Given the description of an element on the screen output the (x, y) to click on. 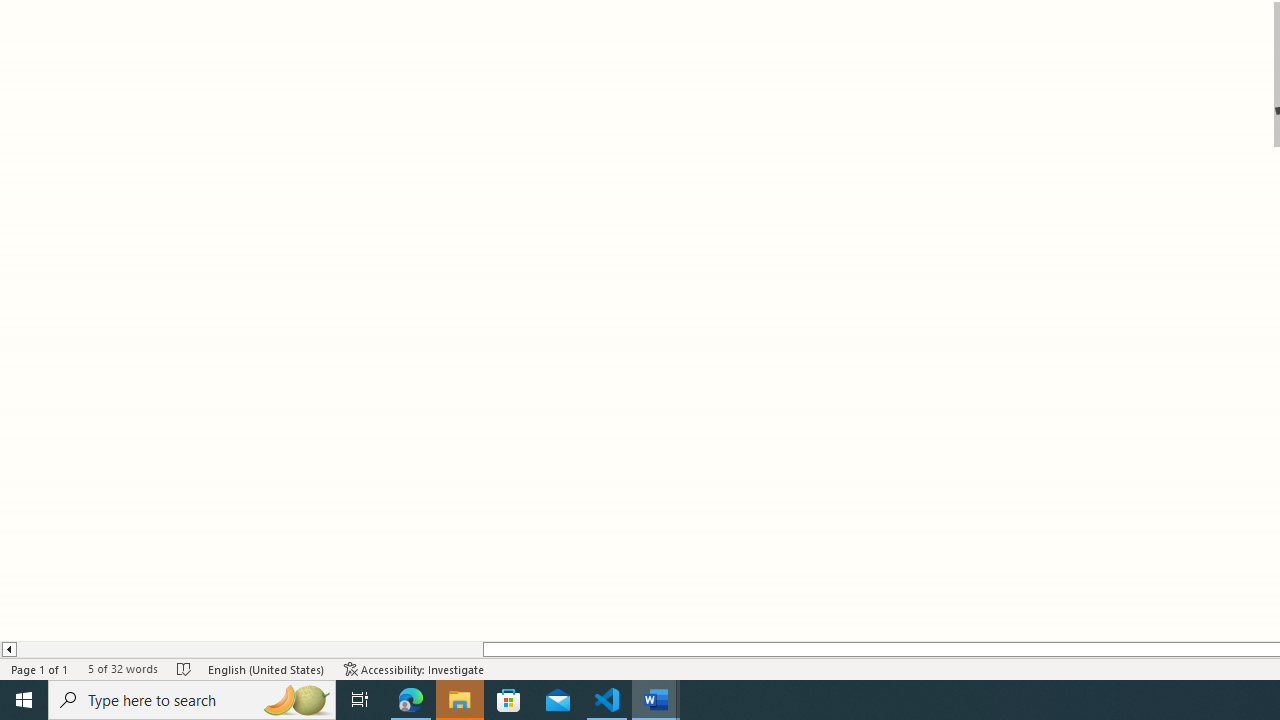
Word Count 5 of 32 words (122, 668)
Column left (8, 649)
Spelling and Grammar Check No Errors (184, 668)
Page Number Page 1 of 1 (39, 668)
Page left (249, 649)
Language English (United States) (266, 668)
